Given the description of an element on the screen output the (x, y) to click on. 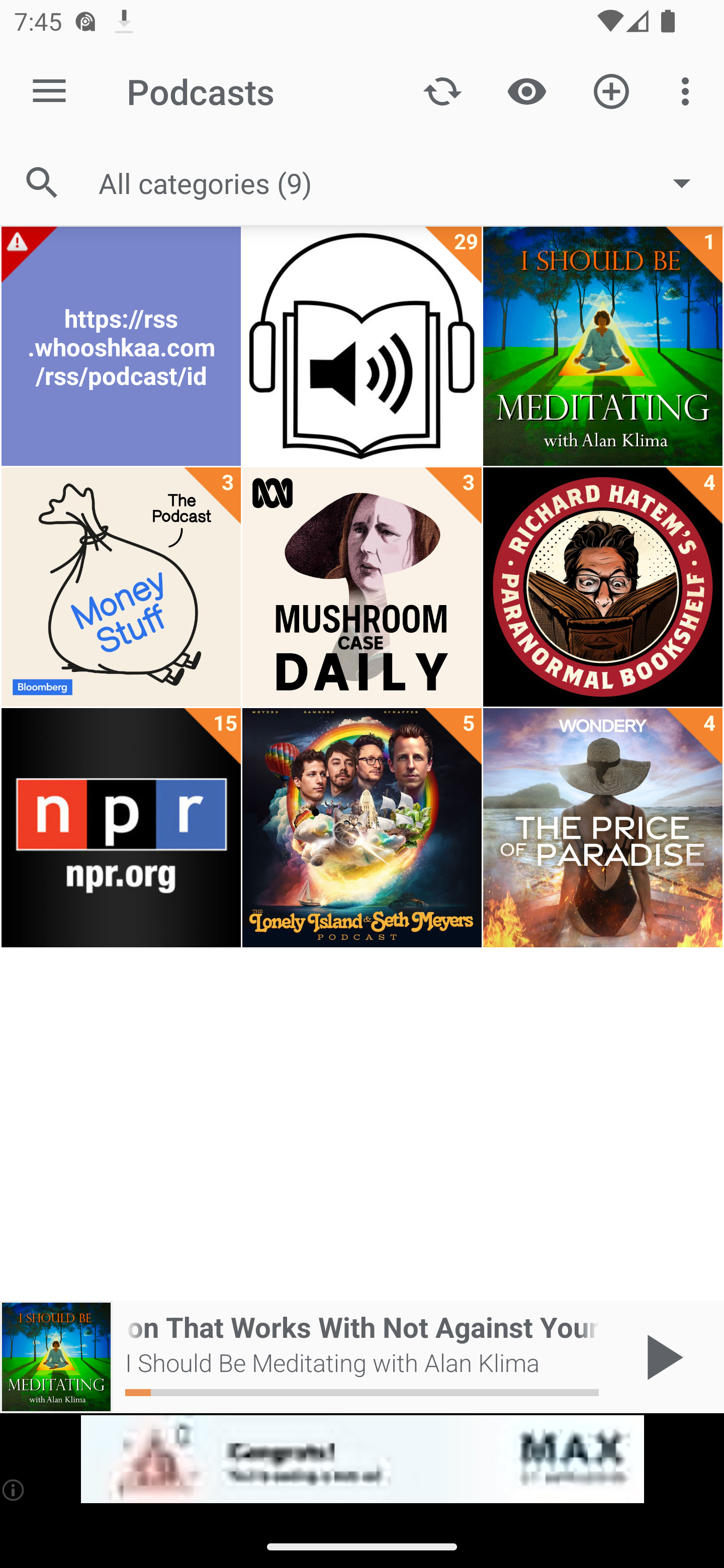
Open navigation sidebar (49, 91)
Update (442, 90)
Show / Hide played content (526, 90)
Add new Podcast (611, 90)
More options (688, 90)
Search (42, 183)
All categories (9) (404, 182)
https://rss.whooshkaa.com/rss/podcast/id/5884 (121, 346)
Audiobooks 29 (361, 346)
Money Stuff: The Podcast 3 (121, 587)
Mushroom Case Daily 3 (361, 587)
Richard Hatem's Paranormal Bookshelf 4 (602, 587)
Stories from NPR : NPR 15 (121, 827)
The Lonely Island and Seth Meyers Podcast 5 (361, 827)
The Price of Paradise 4 (602, 827)
Play / Pause (660, 1356)
app-monetization (362, 1459)
(i) (14, 1489)
